Given the description of an element on the screen output the (x, y) to click on. 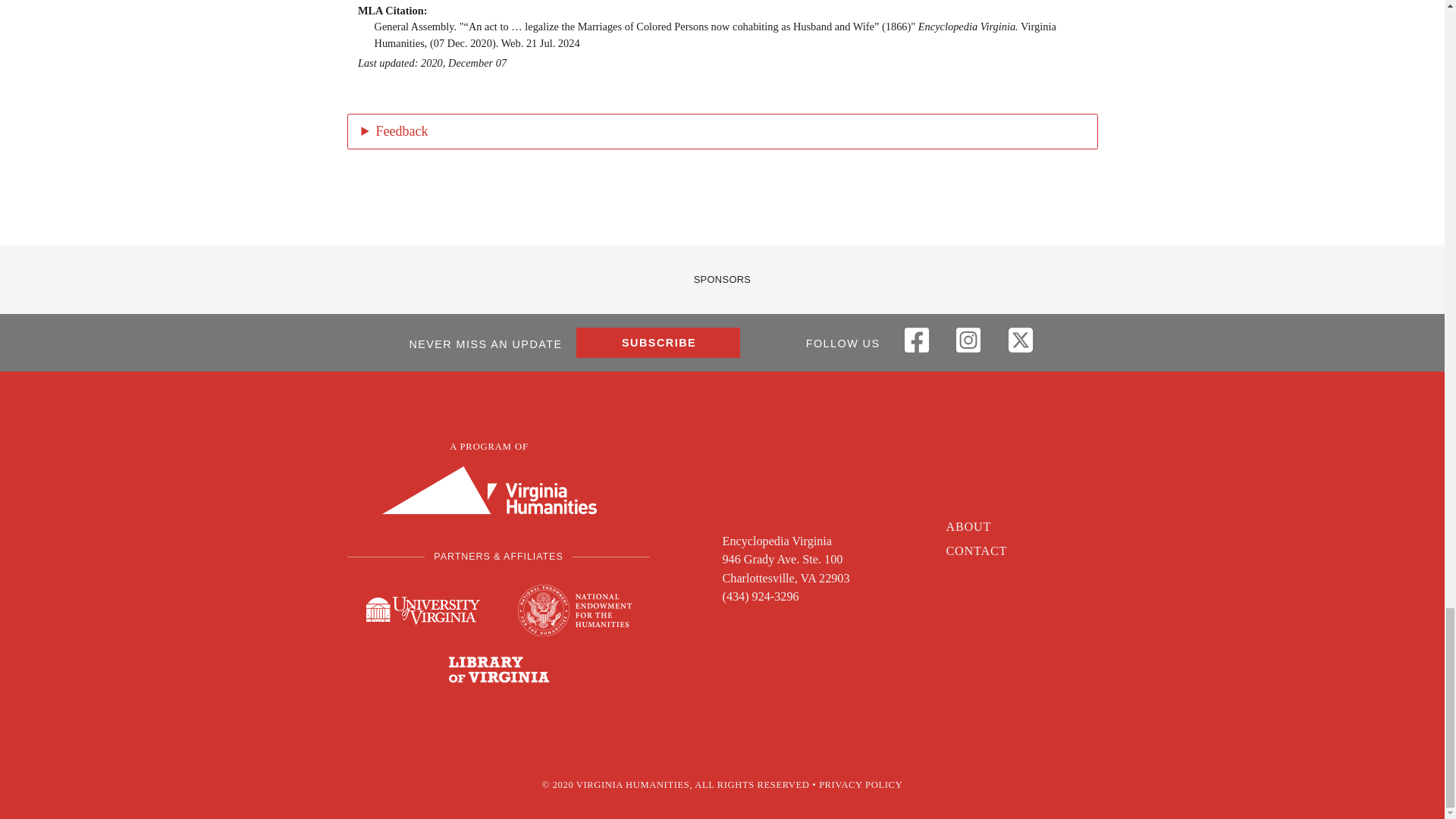
Submit (396, 506)
SUBSCRIBE (657, 342)
SPONSORS (722, 279)
